Given the description of an element on the screen output the (x, y) to click on. 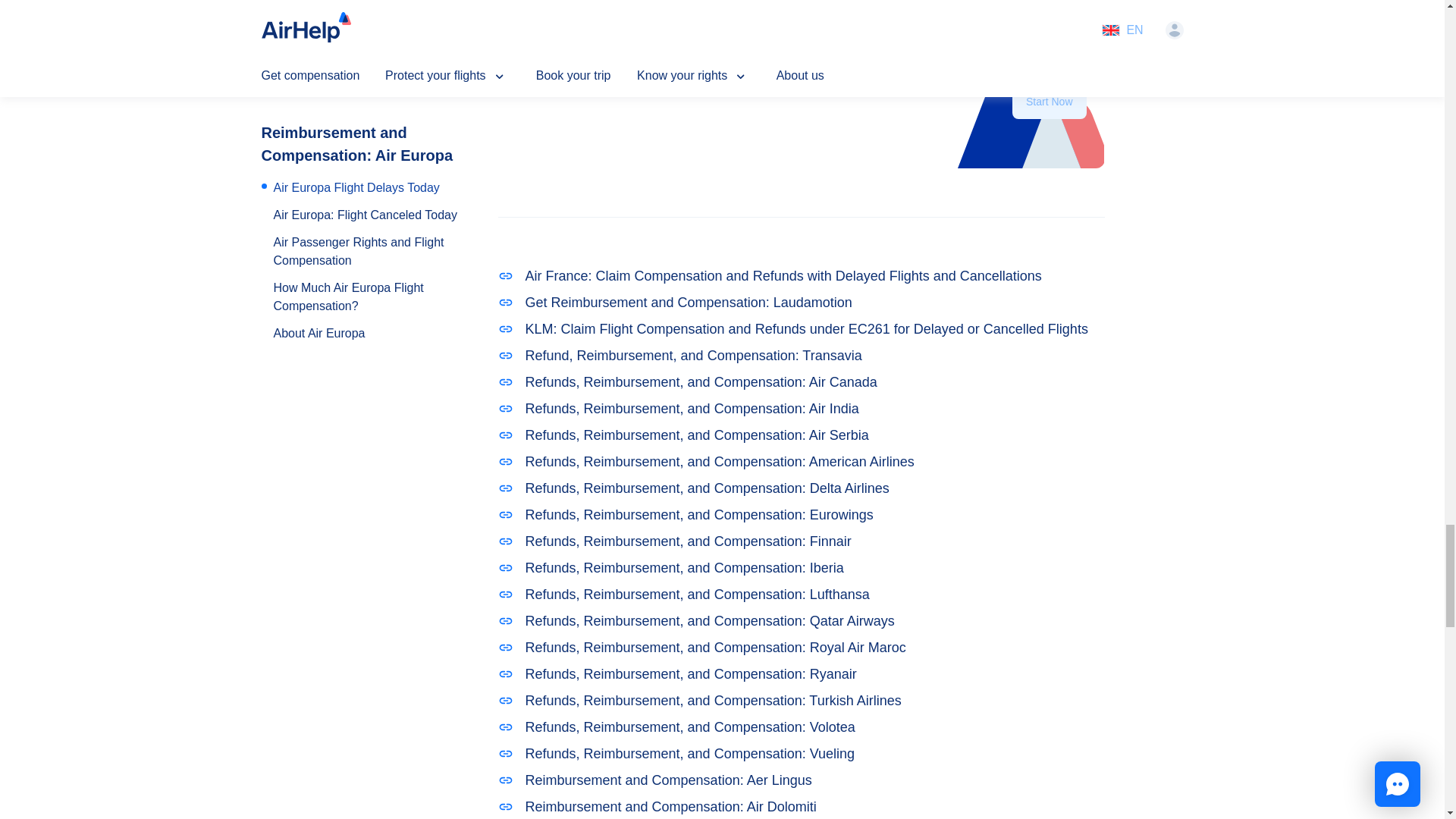
Refund, Reimbursement, and Compensation: Transavia (800, 355)
Start Now (1048, 101)
Refunds, Reimbursement, and Compensation: Air Canada (800, 382)
Get Reimbursement and Compensation: Laudamotion (800, 302)
